Given the description of an element on the screen output the (x, y) to click on. 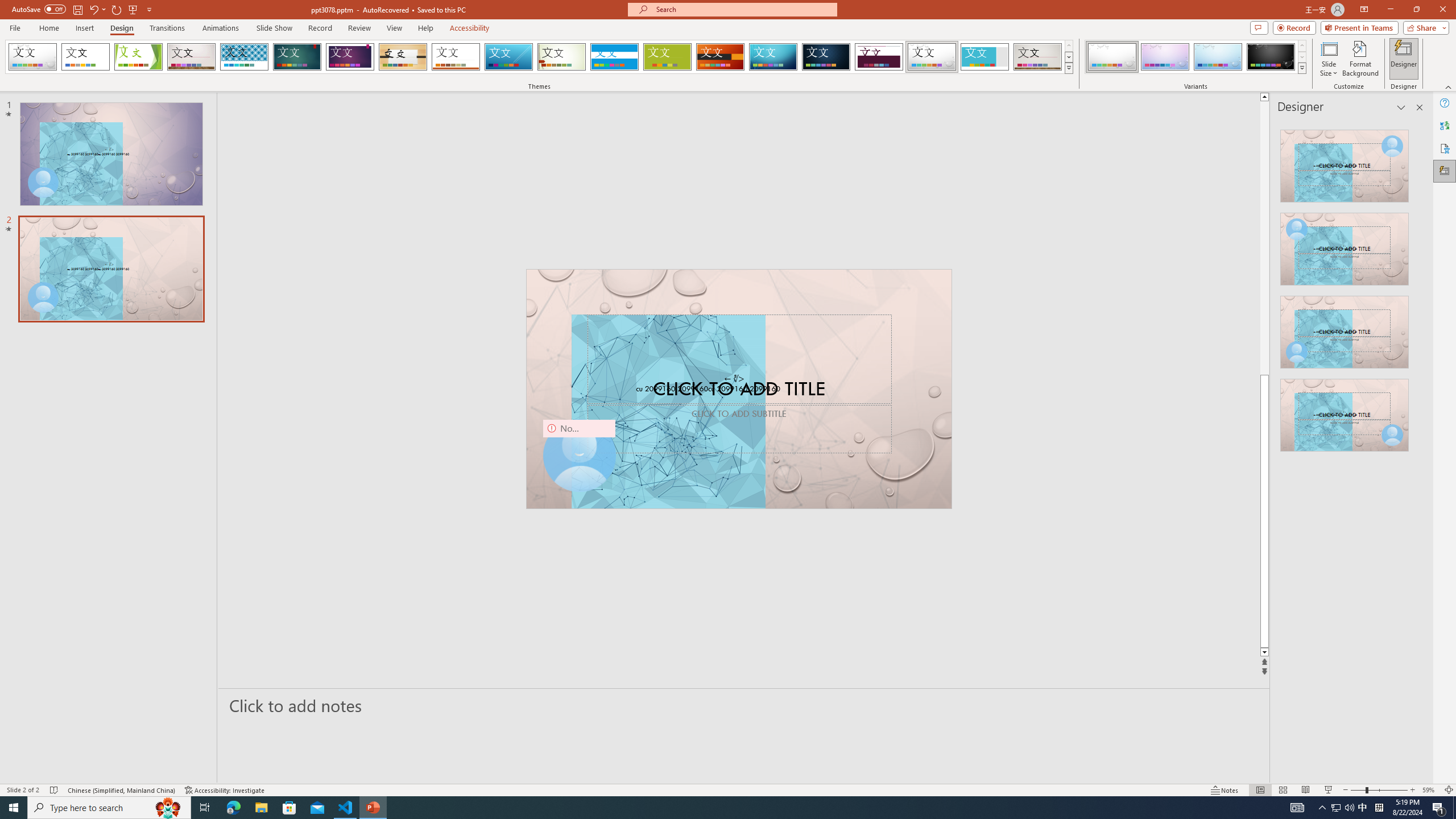
Recommended Design: Design Idea (1344, 162)
Droplet Variant 1 (1112, 56)
Retrospect (455, 56)
Format Background (1360, 58)
